Given the description of an element on the screen output the (x, y) to click on. 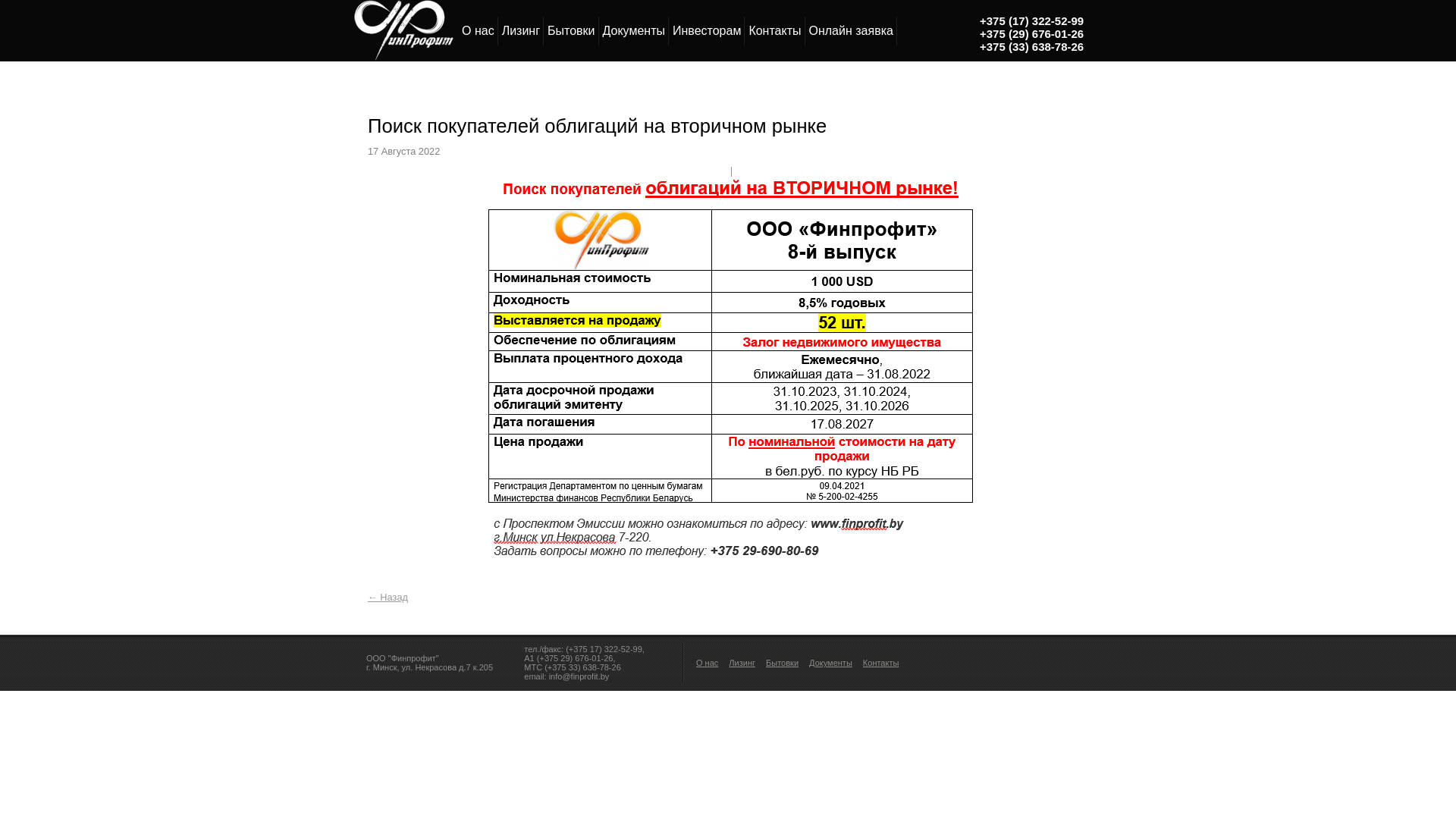
+375 (17) 322-52-99 Element type: text (1031, 20)
+375 (29) 676-01-26 Element type: text (1031, 33)
+375 (33) 638-78-26 Element type: text (1031, 46)
